Given the description of an element on the screen output the (x, y) to click on. 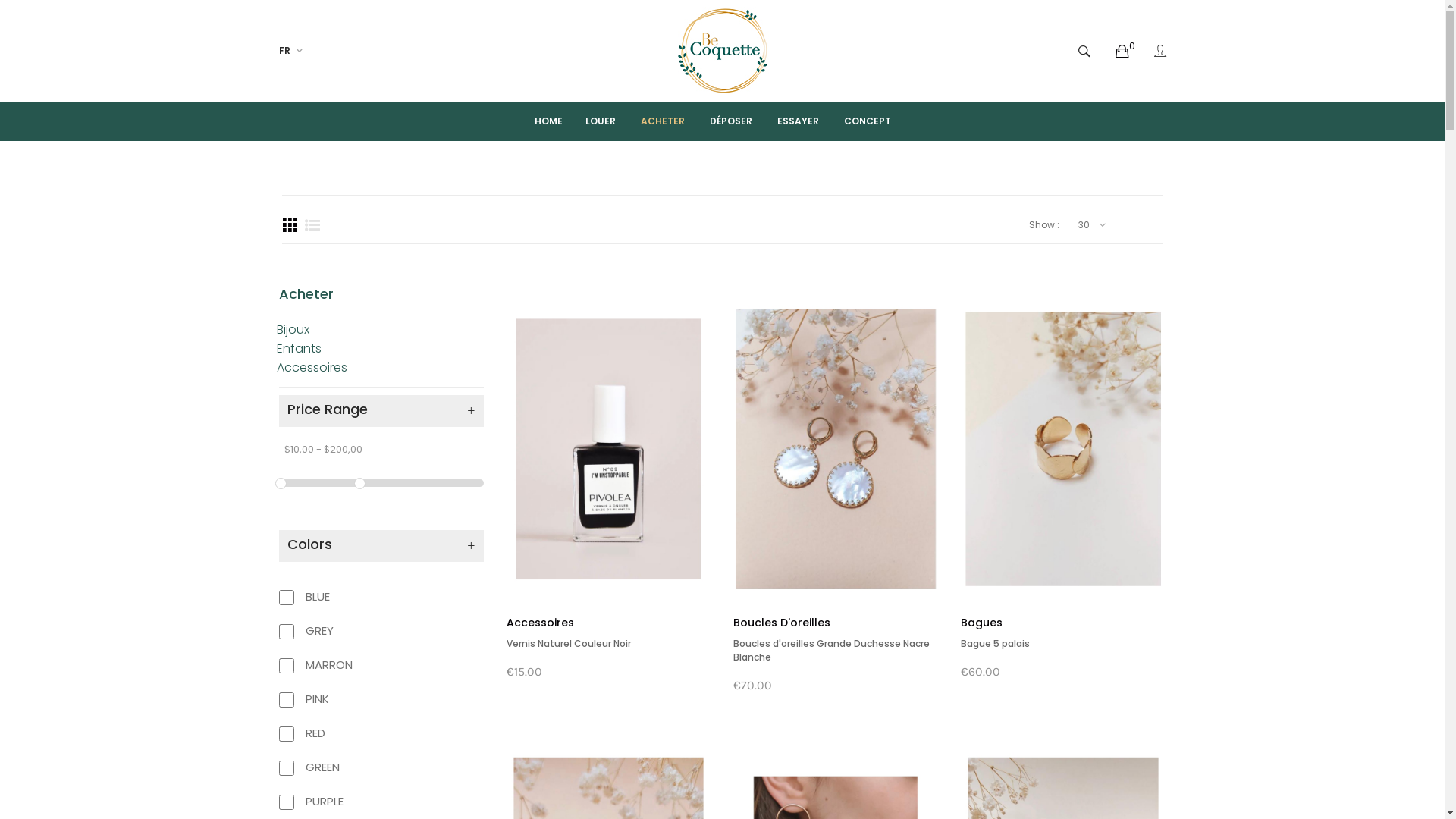
Accessoires Element type: text (311, 367)
Bague 5 palais Element type: text (994, 643)
Bijoux Element type: text (292, 329)
Grid Element type: hover (289, 224)
Boucles d'oreilles Grande Duchesse Nacre Blanche Element type: text (831, 650)
CONCEPT Element type: text (867, 121)
ACHETER Element type: text (662, 121)
Acheter  Element type: text (308, 293)
Boucles D'Oreilles Element type: text (781, 622)
ESSAYER Element type: text (797, 121)
Bagues Element type: text (981, 622)
Enfants Element type: text (298, 348)
BeCoquette Element type: hover (722, 50)
LOUER Element type: text (600, 121)
Accessoires Element type: text (540, 622)
HOME Element type: text (557, 121)
Vernis Naturel Couleur Noir Element type: text (568, 643)
List Element type: hover (312, 224)
